Given the description of an element on the screen output the (x, y) to click on. 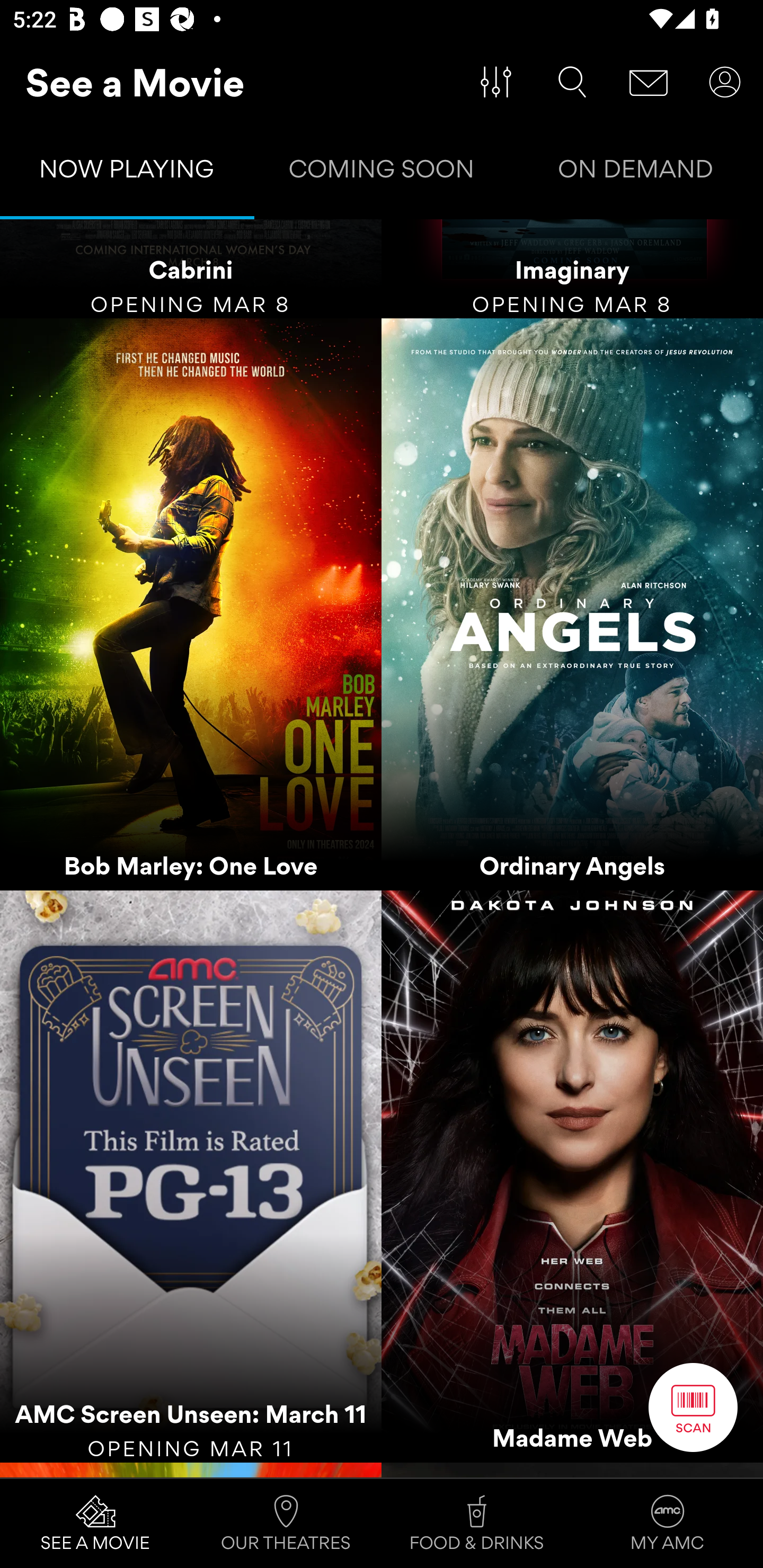
Filter Movies (495, 82)
Search (572, 82)
Message Center (648, 82)
User Account (724, 82)
NOW PLAYING
Tab 1 of 3 (127, 173)
COMING SOON
Tab 2 of 3 (381, 173)
ON DEMAND
Tab 3 of 3 (635, 173)
Cabrini
OPENING MAR 8 (190, 268)
Imaginary
OPENING MAR 8 (572, 268)
Bob Marley: One Love (190, 604)
Ordinary Angels (572, 604)
AMC Screen Unseen: March 11
OPENING MAR 11 (190, 1176)
Madame Web (572, 1176)
Scan Button (692, 1406)
SEE A MOVIE
Tab 1 of 4 (95, 1523)
OUR THEATRES
Tab 2 of 4 (285, 1523)
FOOD & DRINKS
Tab 3 of 4 (476, 1523)
MY AMC
Tab 4 of 4 (667, 1523)
